Given the description of an element on the screen output the (x, y) to click on. 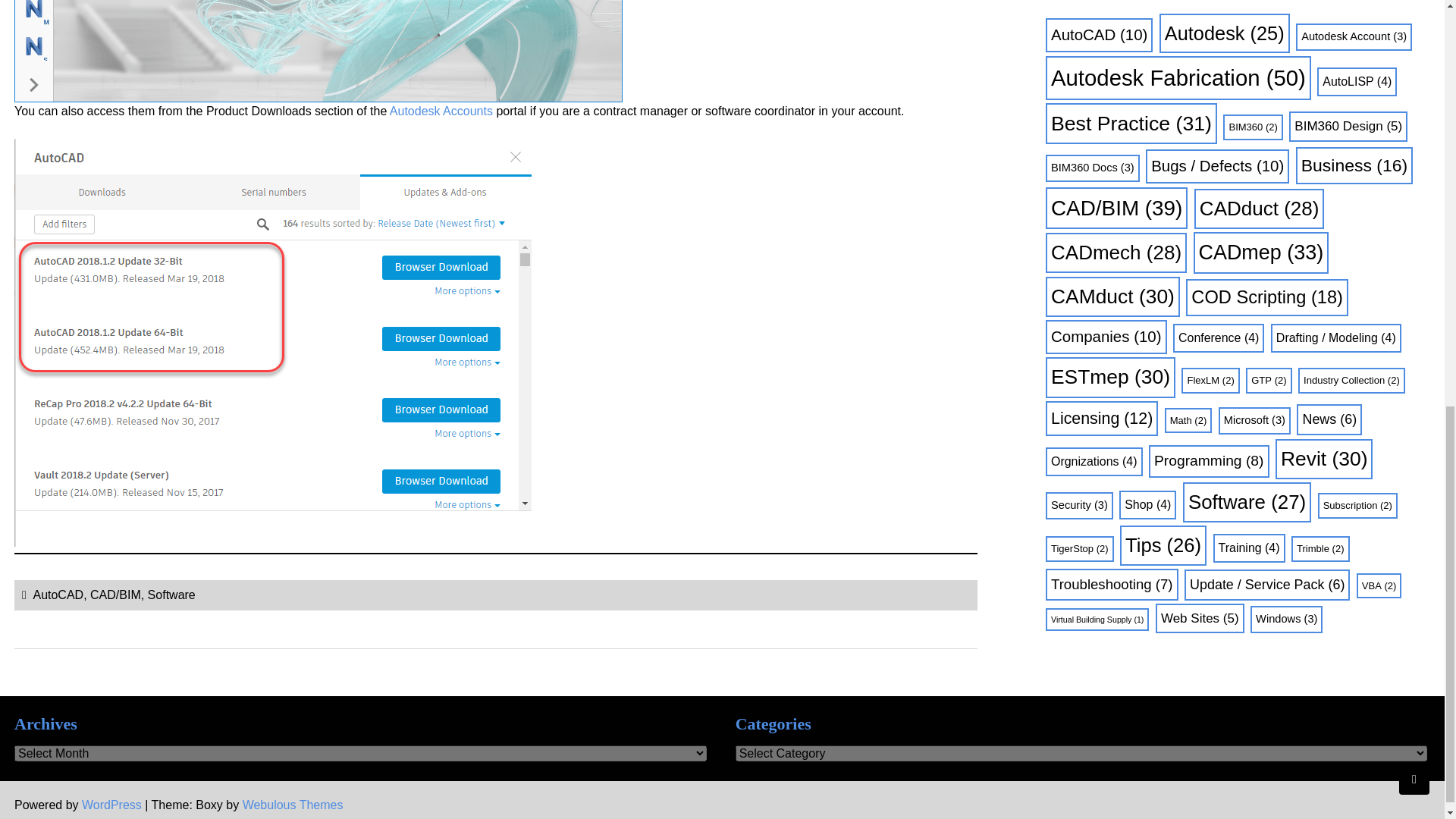
Software (171, 594)
Autodesk Accounts (441, 110)
AutoCAD (57, 594)
